Given the description of an element on the screen output the (x, y) to click on. 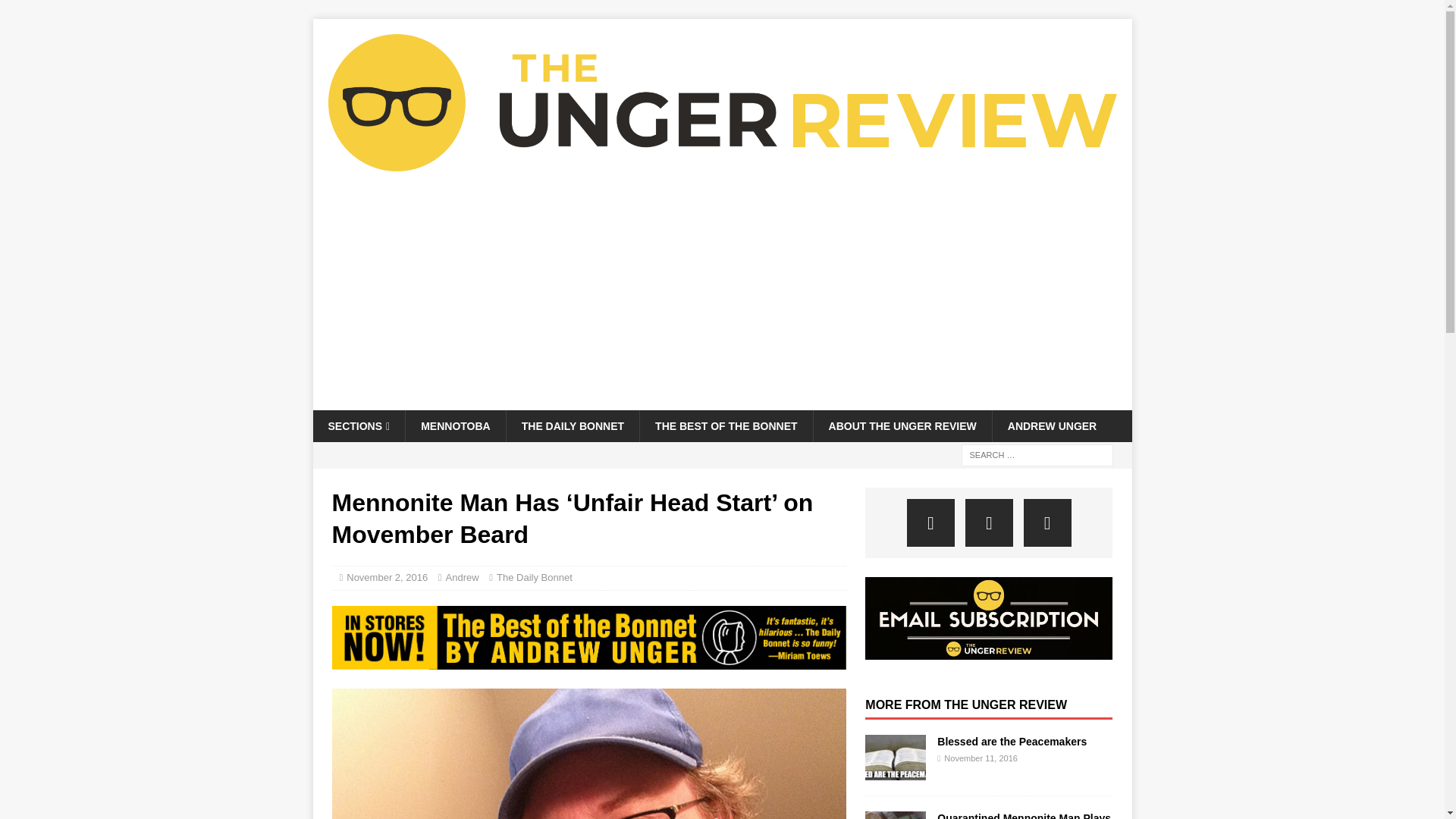
THE BEST OF THE BONNET (725, 426)
November 2, 2016 (387, 577)
MENNOTOBA (454, 426)
ANDREW UNGER (1051, 426)
SECTIONS (358, 426)
ABOUT THE UNGER REVIEW (901, 426)
THE DAILY BONNET (572, 426)
Search (56, 11)
The Daily Bonnet (534, 577)
